Given the description of an element on the screen output the (x, y) to click on. 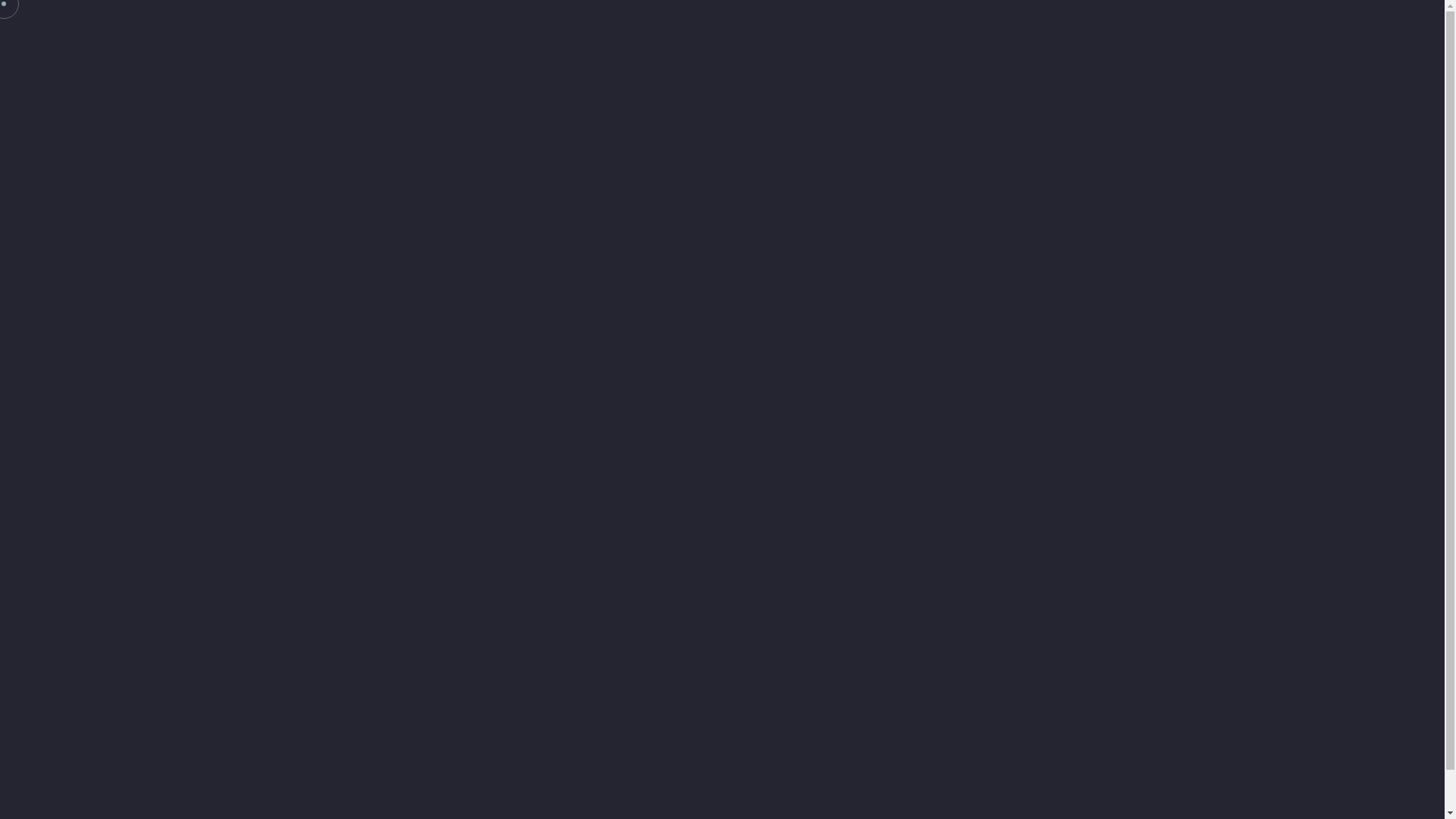
Contact Us Element type: text (1282, 29)
Media & News Element type: text (1187, 29)
About Niska Element type: text (916, 29)
Go Back Now! Element type: text (722, 505)
Home Element type: text (841, 29)
History Element type: text (994, 29)
Business Team Element type: text (1082, 29)
